Given the description of an element on the screen output the (x, y) to click on. 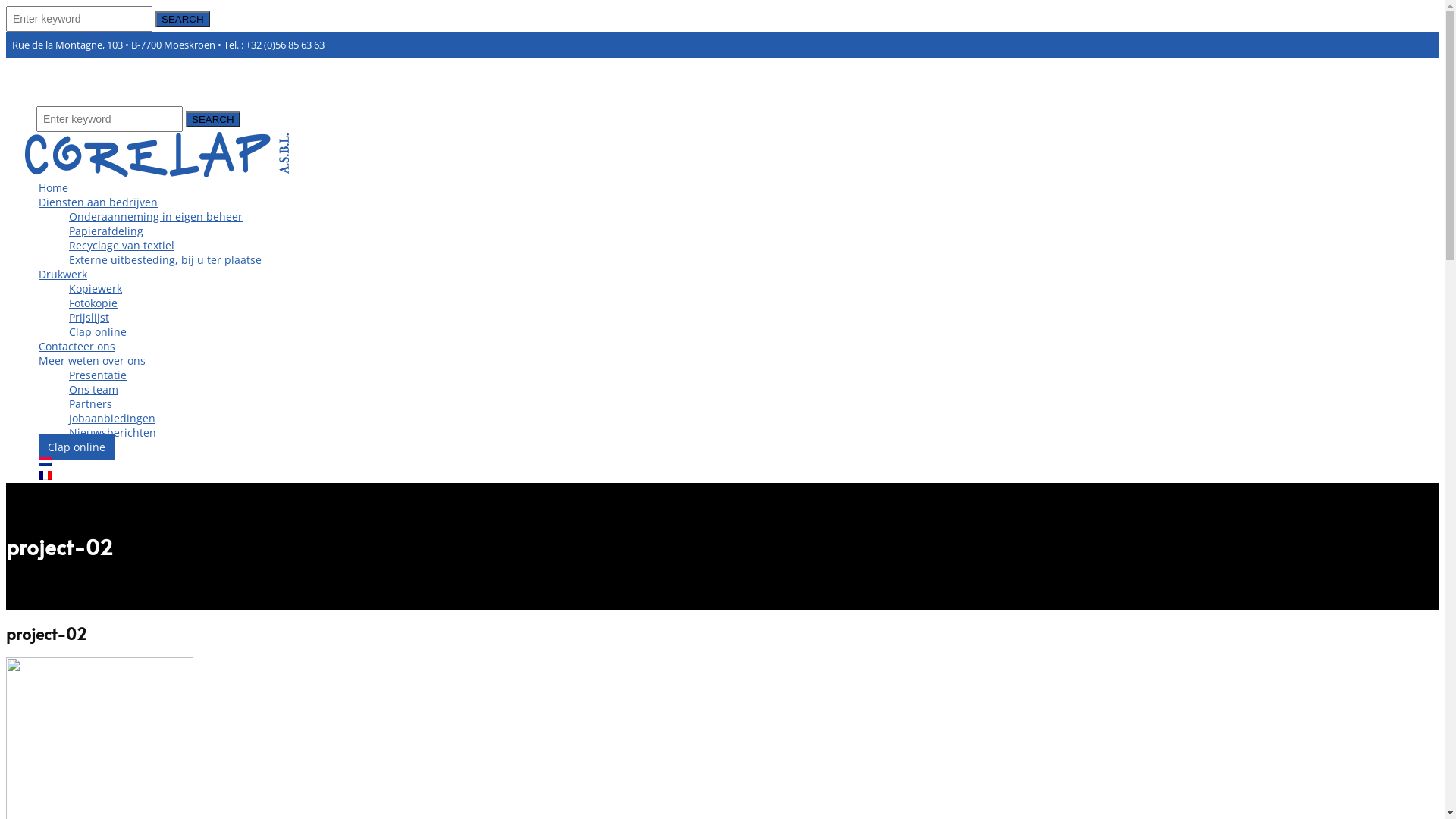
Corelap Element type: hover (157, 173)
Fotokopie Element type: text (93, 302)
SEARCH Element type: text (212, 119)
Diensten aan bedrijven Element type: text (97, 201)
Meer weten over ons Element type: text (91, 360)
Partners Element type: text (90, 403)
Jobaanbiedingen Element type: text (112, 418)
Prijslijst Element type: text (89, 317)
Externe uitbesteding, bij u ter plaatse Element type: text (165, 259)
Clap online Element type: text (76, 446)
Search for: Element type: hover (109, 118)
Search for: Element type: hover (79, 18)
Nieuwsberichten Element type: text (112, 432)
Papierafdeling Element type: text (106, 230)
Drukwerk Element type: text (62, 273)
SEARCH Element type: text (182, 19)
Recyclage van textiel Element type: text (121, 245)
Presentatie Element type: text (97, 374)
Kopiewerk Element type: text (95, 288)
Ons team Element type: text (93, 389)
Clap online Element type: text (97, 331)
Onderaanneming in eigen beheer Element type: text (155, 216)
Home Element type: text (53, 187)
Contacteer ons Element type: text (76, 345)
